Given the description of an element on the screen output the (x, y) to click on. 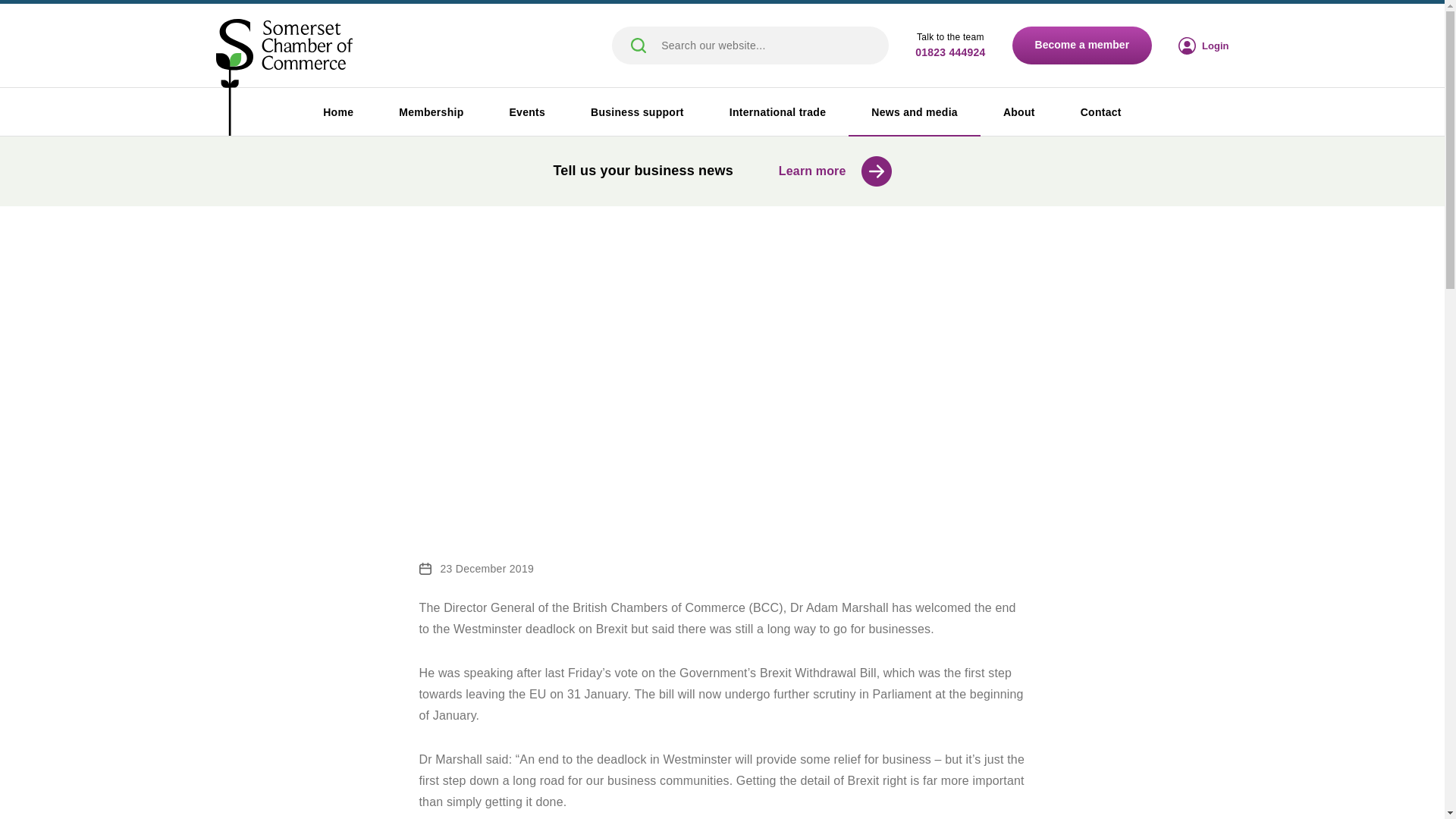
Become a member (1082, 45)
Business support (636, 111)
Contact (1101, 111)
Somerset Chamber (283, 78)
Home (337, 111)
Learn more (834, 171)
Events (526, 111)
International trade (777, 111)
Membership (430, 111)
News and media (913, 111)
